Given the description of an element on the screen output the (x, y) to click on. 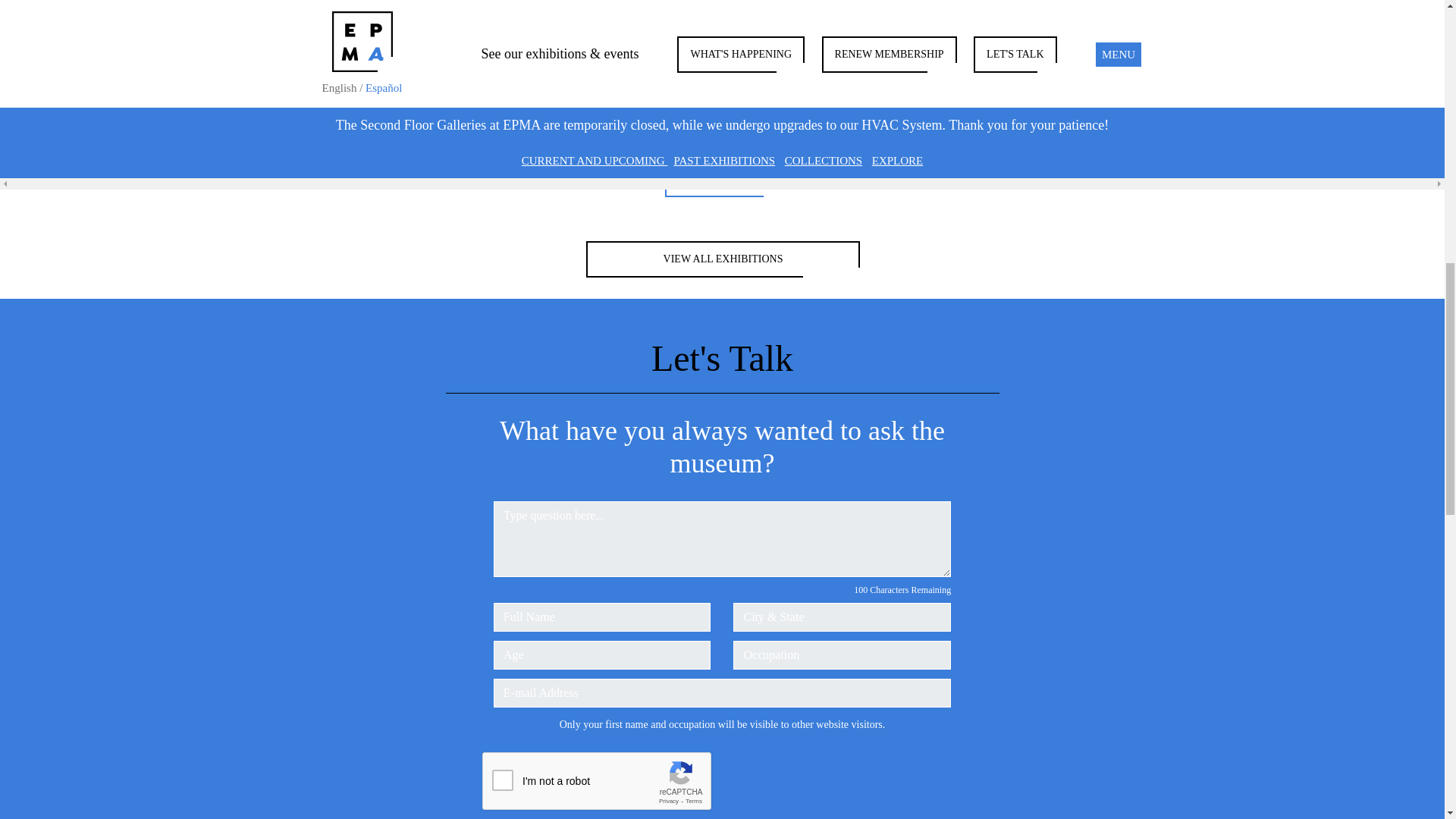
reCAPTCHA (597, 781)
